Given the description of an element on the screen output the (x, y) to click on. 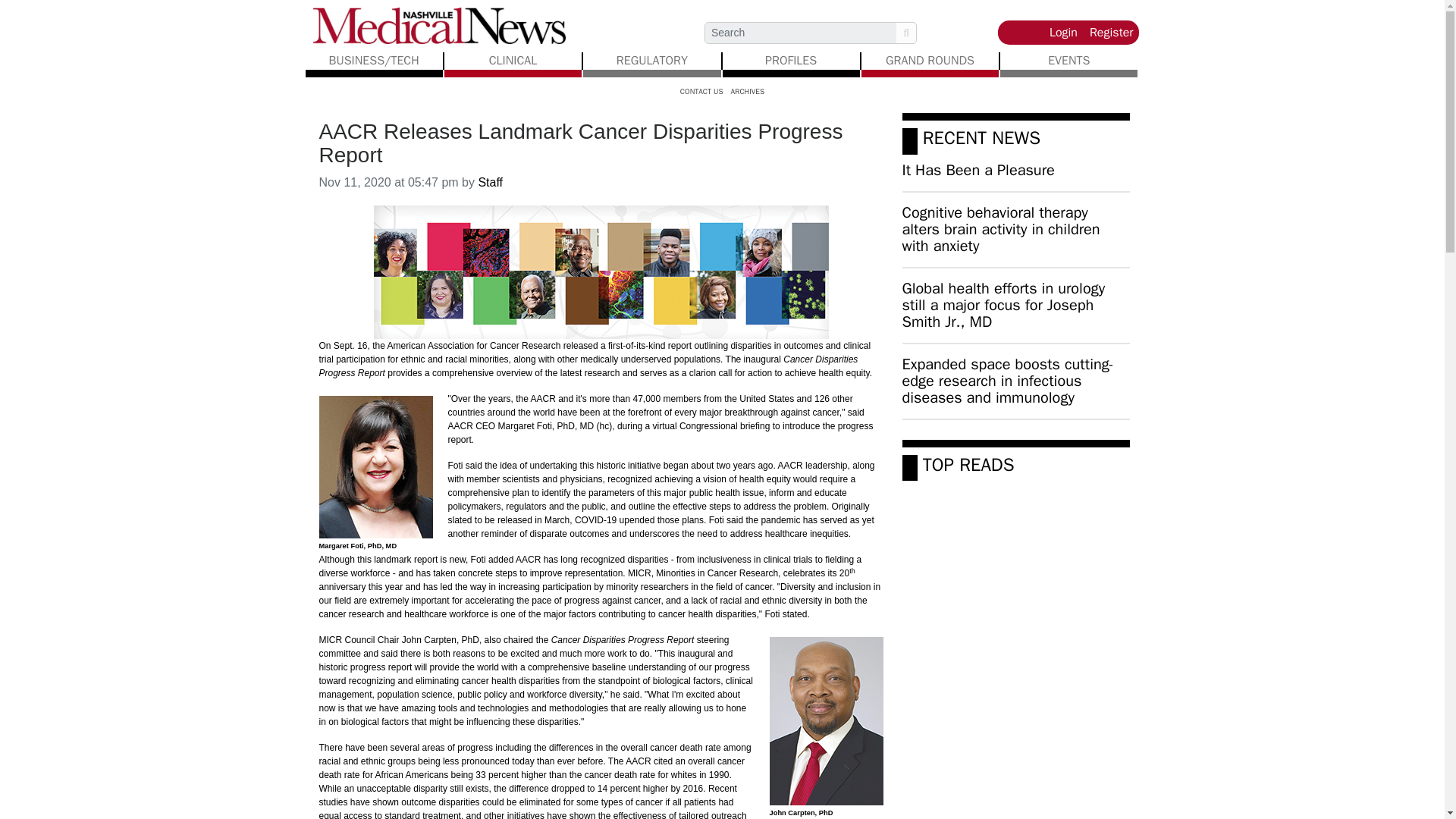
PROFILES (790, 60)
CLINICAL (513, 60)
REGULATORY (651, 60)
CONTACT US (701, 91)
Register (1111, 32)
ARCHIVES (747, 91)
GRAND ROUNDS (929, 60)
Staff (489, 182)
Login (1063, 32)
EVENTS (1068, 60)
